Given the description of an element on the screen output the (x, y) to click on. 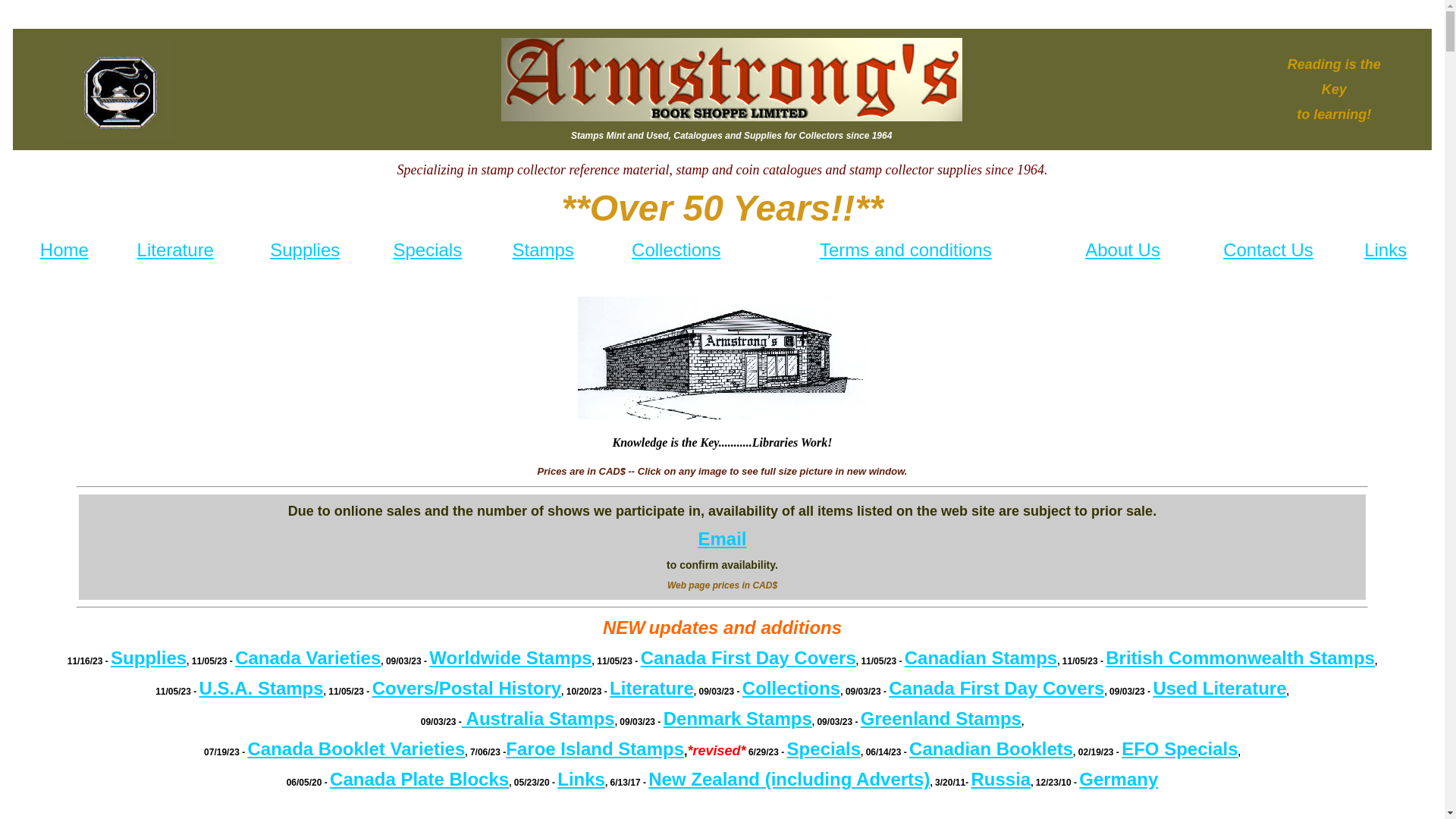
About Us Element type: text (1122, 249)
British Commonwealth Stamps Element type: text (1239, 657)
Terms and conditions Element type: text (905, 249)
Canada Plate Blocks Element type: text (418, 778)
EFO Specials Element type: text (1179, 748)
Greenland Stamps Element type: text (940, 718)
New Zealand (including Adverts) Element type: text (788, 778)
Russia Element type: text (1000, 778)
Email Element type: text (721, 538)
Canada First Day Covers Element type: text (996, 687)
U.S.A. Stamps Element type: text (261, 687)
Supplies Element type: text (304, 249)
Denmark Stamps Element type: text (737, 718)
Canada Booklet Varieties Element type: text (355, 748)
Worldwide Stamps Element type: text (510, 657)
Stamps Element type: text (542, 249)
Canada Varieties Element type: text (307, 657)
Contact Us Element type: text (1268, 249)
Australia Stamps Element type: text (538, 718)
Supplies Element type: text (148, 657)
Literature Element type: text (651, 687)
Canadian Stamps Element type: text (980, 657)
Links Element type: text (1385, 249)
Faroe Island Stamps Element type: text (594, 748)
Links Element type: text (581, 778)
Literature Element type: text (175, 249)
Collections Element type: text (791, 687)
Canada First Day Covers Element type: text (748, 657)
Specials Element type: text (426, 249)
Specials Element type: text (823, 748)
Home Element type: text (64, 249)
Covers/Postal History Element type: text (466, 687)
Germany Element type: text (1118, 778)
Canadian Booklets Element type: text (991, 748)
Collections Element type: text (675, 249)
Used Literature Element type: text (1219, 687)
